Given the description of an element on the screen output the (x, y) to click on. 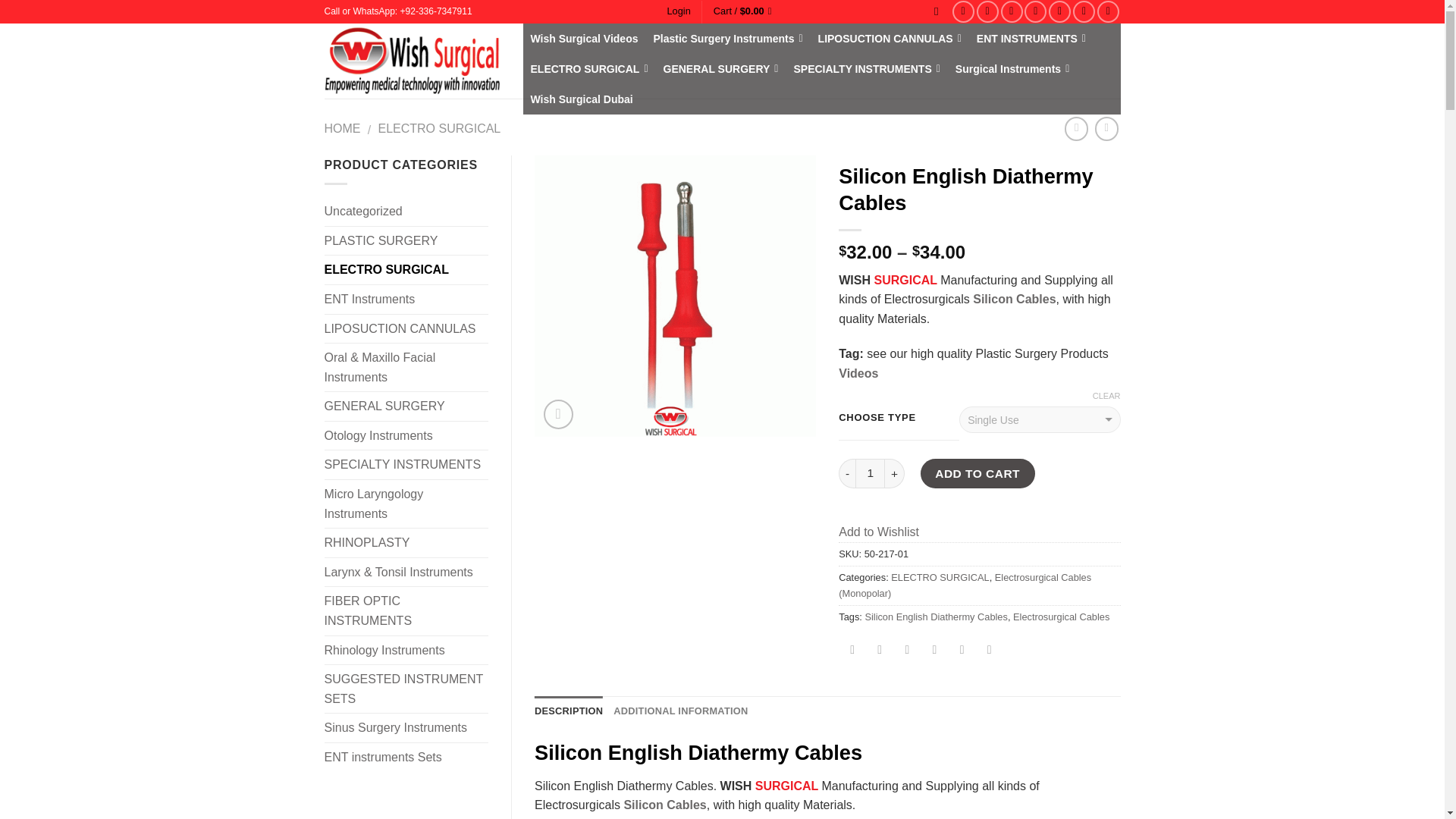
Send us an email (1035, 11)
Zoom (558, 414)
Follow on Pinterest (1059, 11)
Plastic Surgery Instruments (728, 38)
Wish Surgical Videos (584, 38)
Follow on Twitter (1012, 11)
Follow on LinkedIn (1083, 11)
LIPOSUCTION CANNULAS (889, 38)
Qty (870, 473)
Login (678, 11)
